Given the description of an element on the screen output the (x, y) to click on. 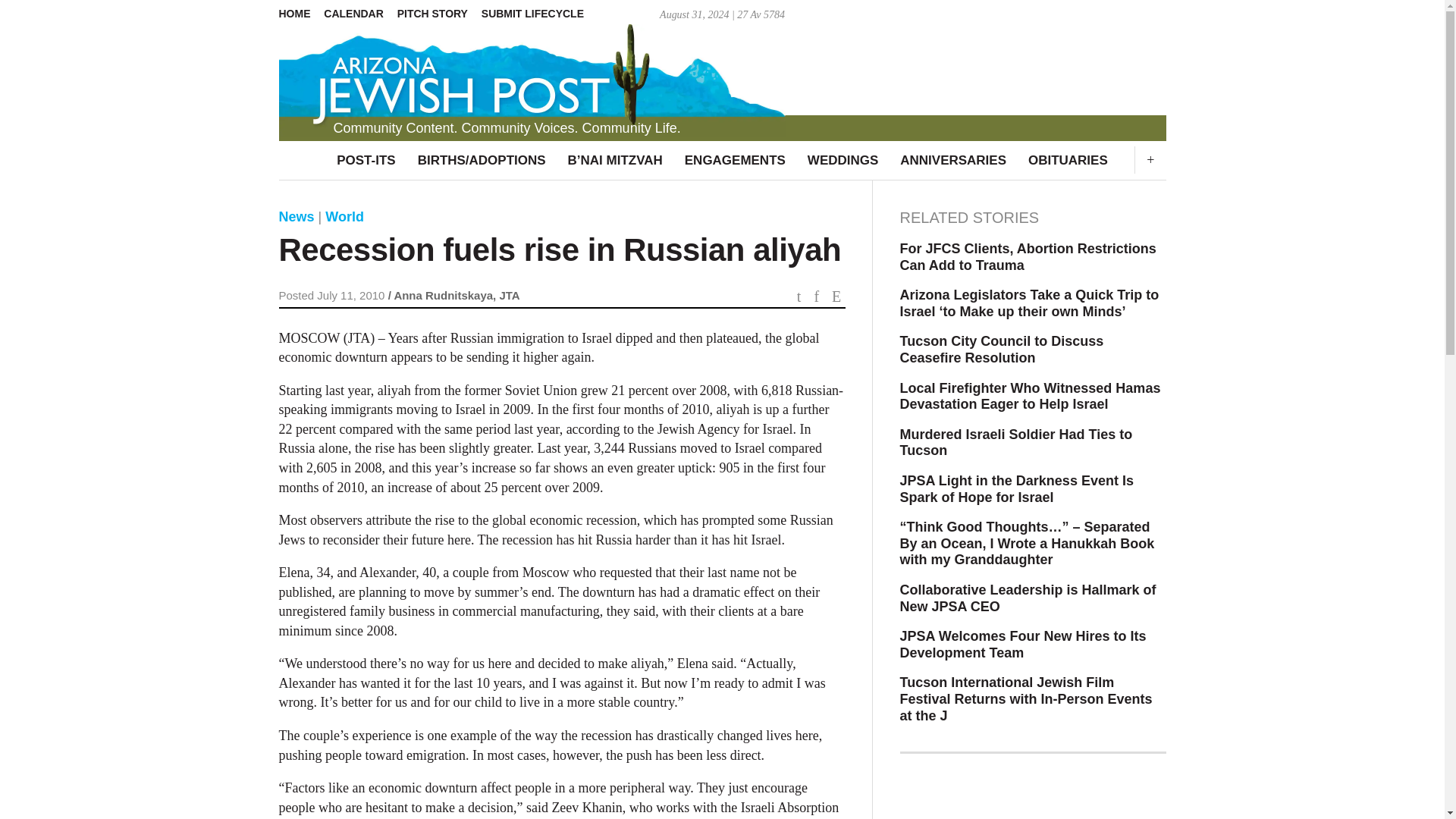
News (296, 216)
HOME (300, 14)
Community Content. Community Voices. Community Life. (722, 70)
Tucson City Council to Discuss Ceasefire Resolution (1032, 349)
SUBMIT LIFECYCLE (537, 14)
Collaborative Leadership is Hallmark of New JPSA CEO (1032, 598)
PITCH STORY (438, 14)
World (344, 216)
Murdered Israeli Soldier Had Ties to Tucson (1032, 442)
